Given the description of an element on the screen output the (x, y) to click on. 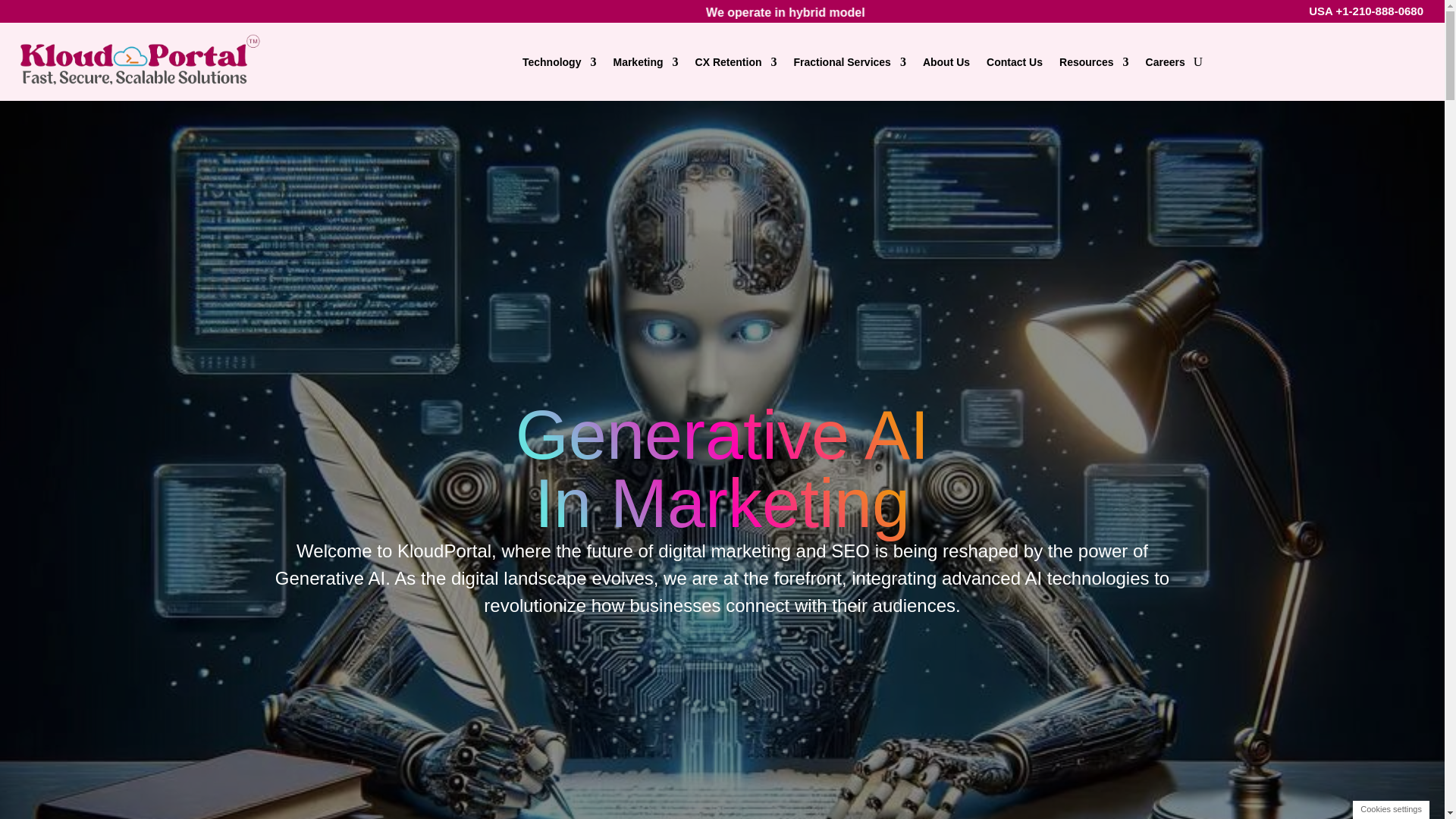
Technology (559, 61)
Fractional Services (849, 61)
CX Retention (736, 61)
Resources (1094, 61)
